Given the description of an element on the screen output the (x, y) to click on. 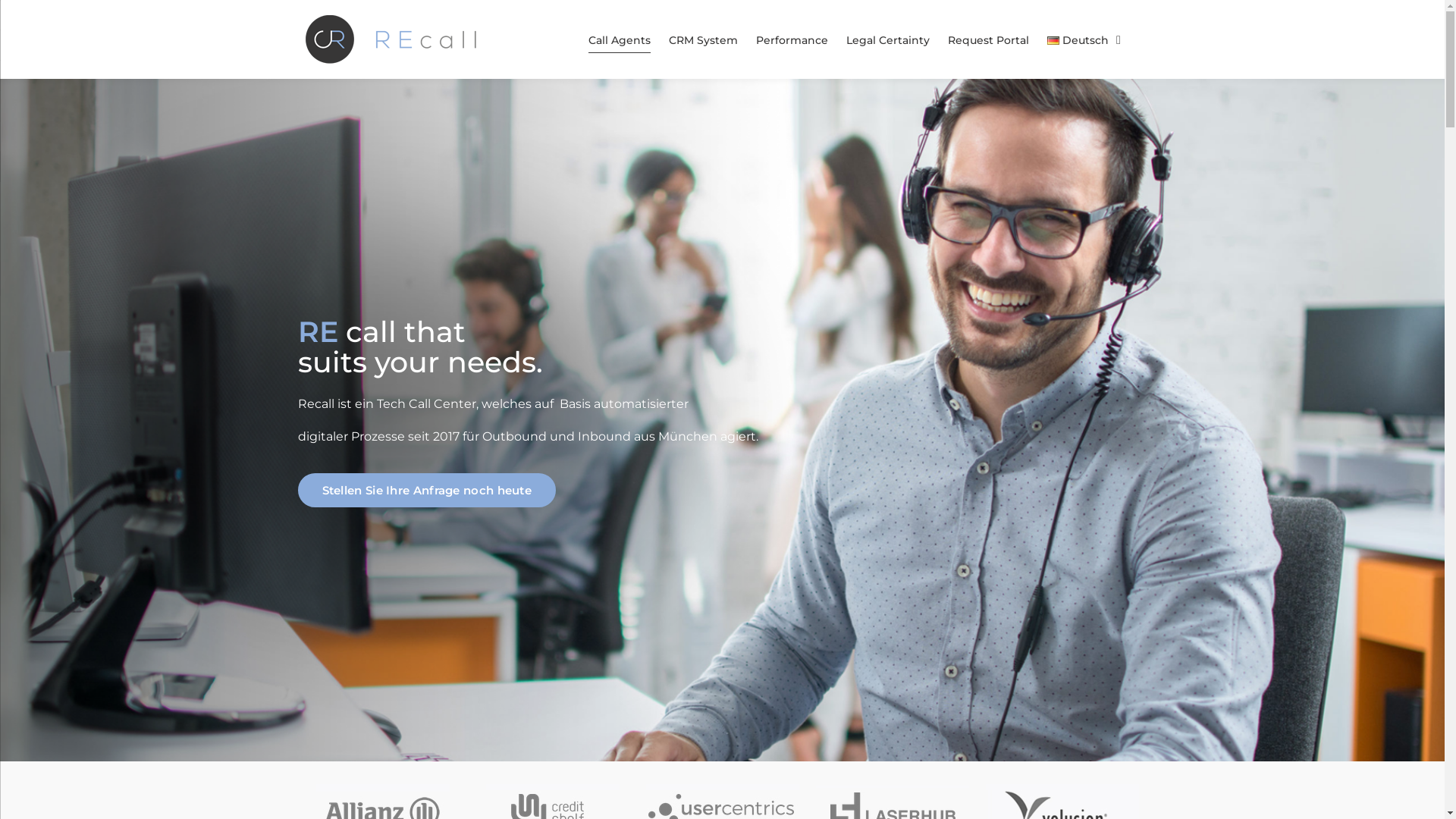
Legal Certainty Element type: text (887, 39)
Performance Element type: text (792, 39)
Call Agents Element type: text (619, 39)
Stellen Sie Ihre Anfrage noch heute Element type: text (426, 490)
CRM System Element type: text (702, 39)
Deutsch Element type: text (1083, 39)
Deutsch Element type: hover (1053, 40)
Request Portal Element type: text (988, 39)
